Given the description of an element on the screen output the (x, y) to click on. 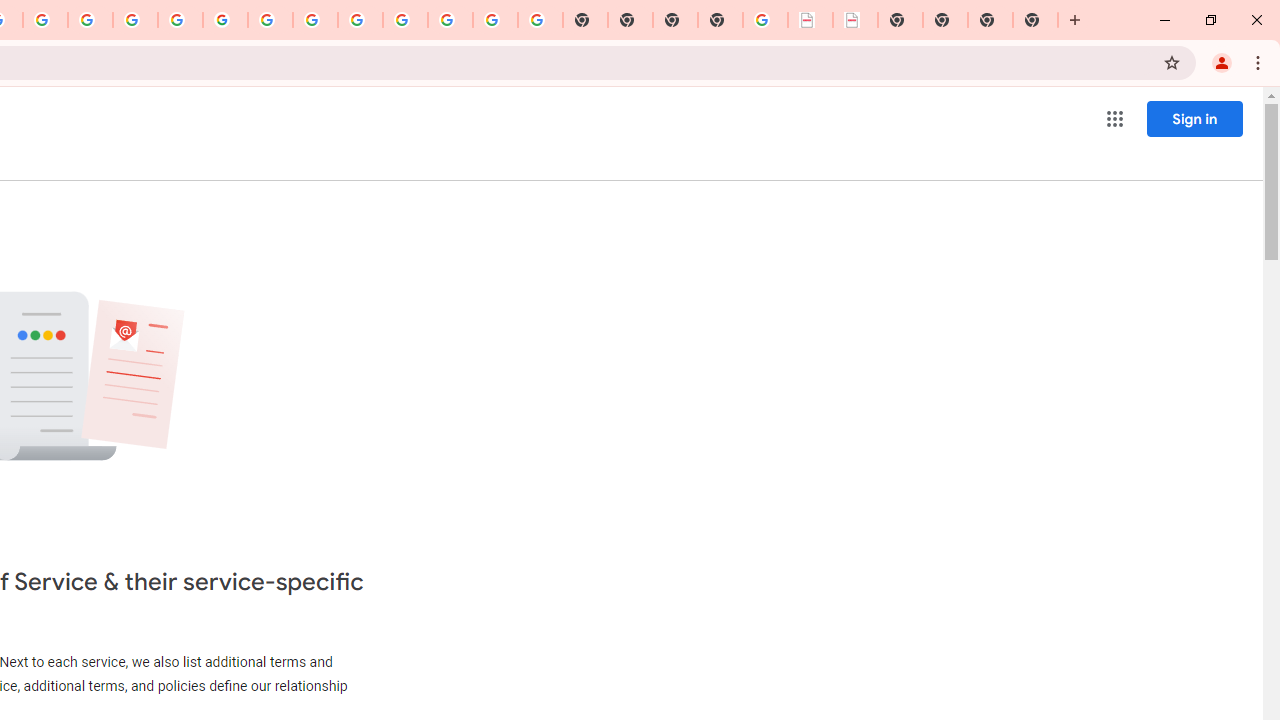
YouTube (270, 20)
LAAD Defence & Security 2025 | BAE Systems (810, 20)
New Tab (1035, 20)
Privacy Help Center - Policies Help (134, 20)
Google Images (540, 20)
